Given the description of an element on the screen output the (x, y) to click on. 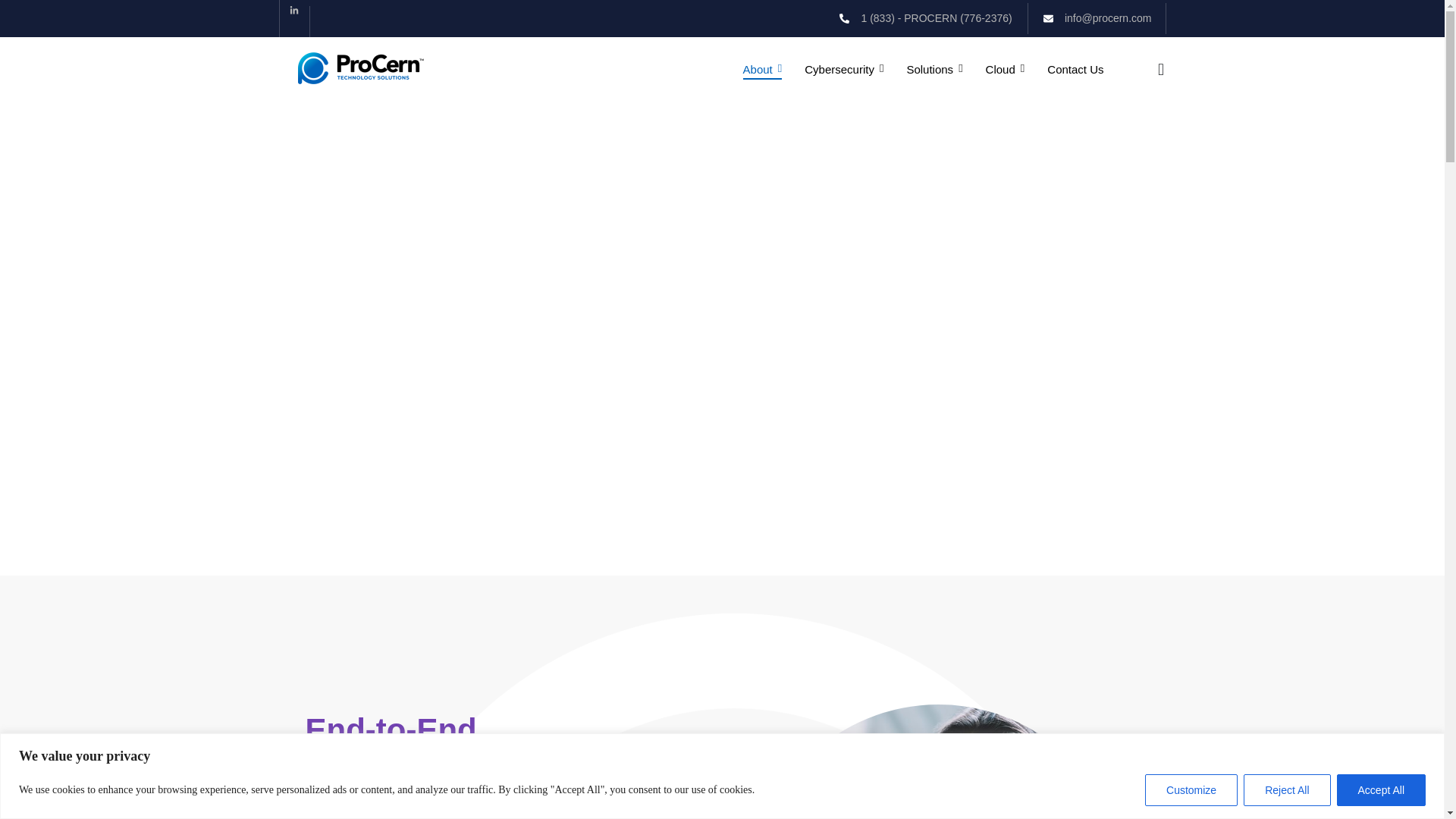
About (762, 69)
Accept All (1380, 789)
Customize (1190, 789)
Cybersecurity (844, 69)
Reject All (1286, 789)
